Given the description of an element on the screen output the (x, y) to click on. 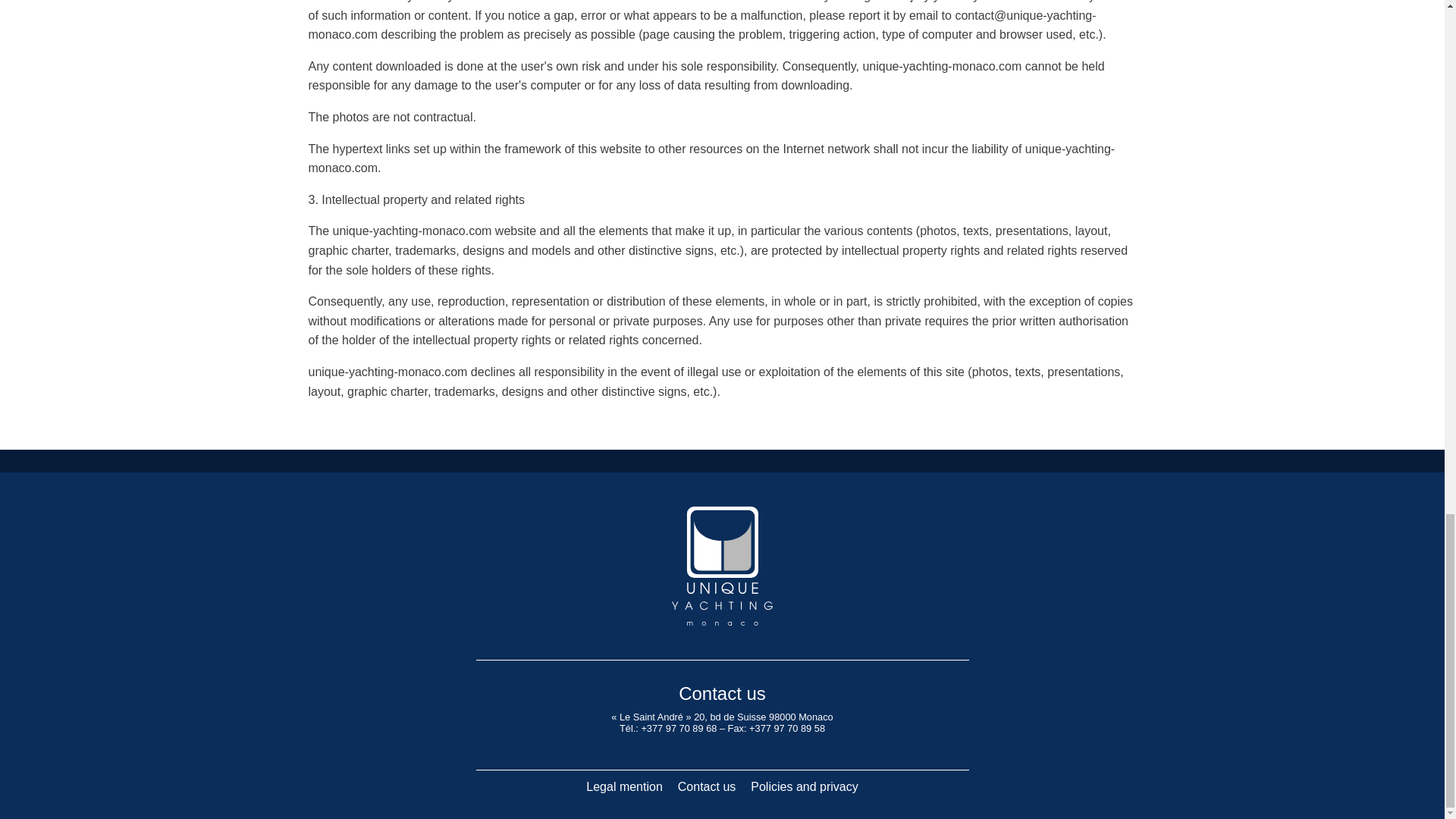
Contact us (705, 787)
unique-yachting-monaco.com (941, 65)
Policies and privacy (803, 787)
Legal mention (623, 787)
unique-yachting-monaco.com (387, 371)
unique-yachting-monaco.com (711, 158)
unique-yachting-monaco.com (412, 230)
